Given the description of an element on the screen output the (x, y) to click on. 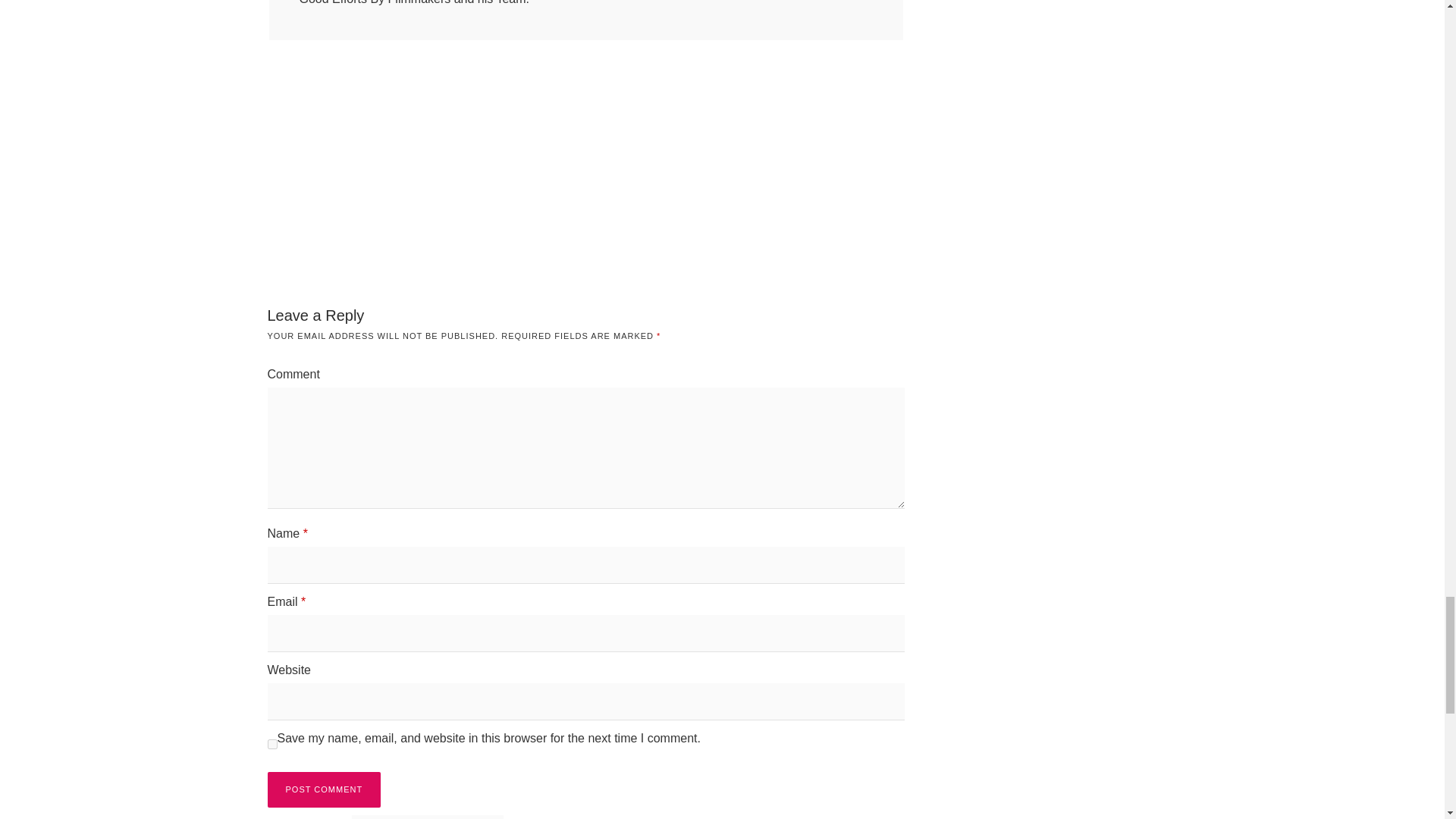
6.5.4 (427, 816)
yes (271, 744)
Post Comment (323, 789)
